Given the description of an element on the screen output the (x, y) to click on. 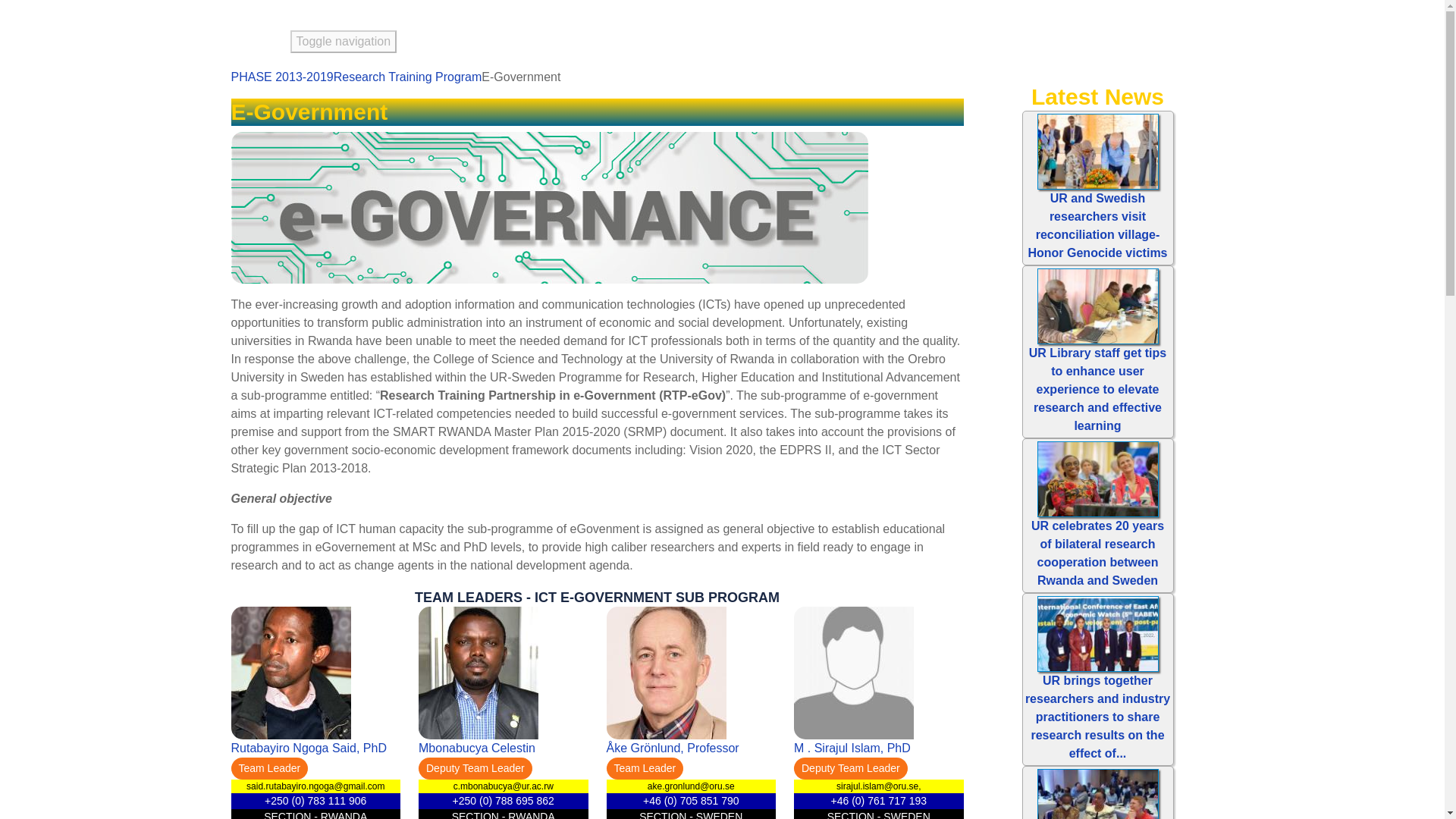
Toggle navigation (342, 41)
